Given the description of an element on the screen output the (x, y) to click on. 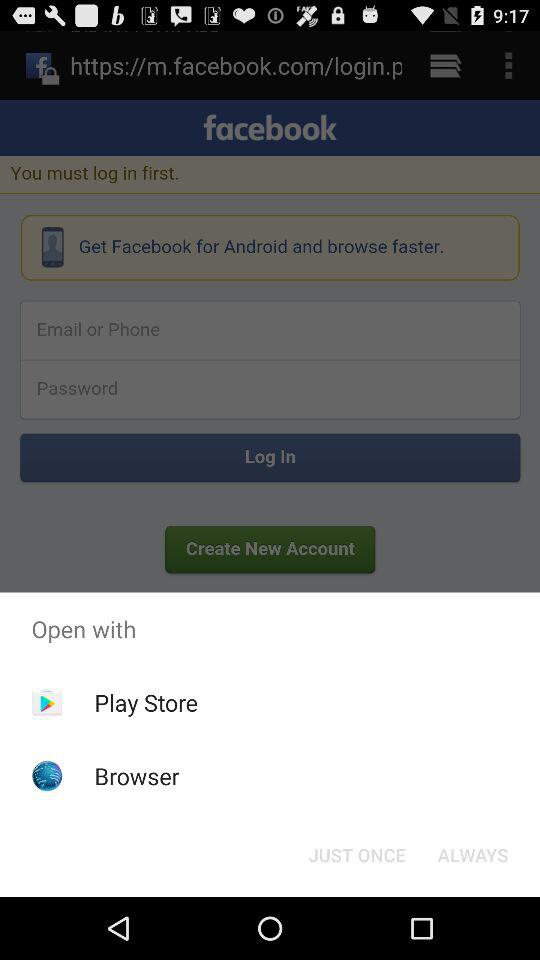
launch app below the open with app (356, 854)
